Given the description of an element on the screen output the (x, y) to click on. 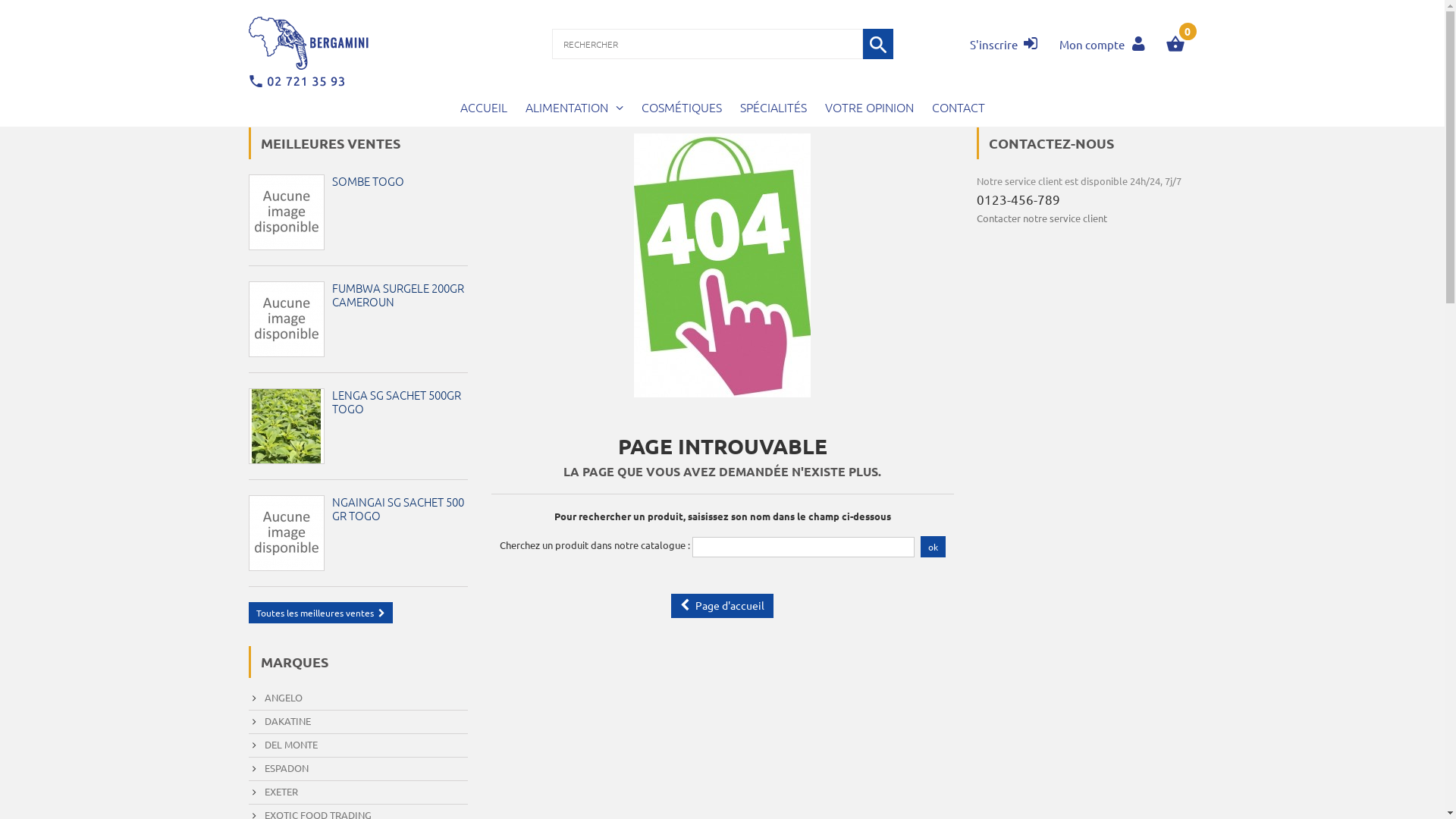
ESPADON Element type: text (279, 767)
Bergamini Element type: hover (308, 51)
NGAINGAI SG SACHET 500 GR TOGO Element type: text (398, 508)
0 Element type: text (1181, 36)
LENGA SG SACHET 500GR TOGO Element type: text (396, 401)
FUMBWA SURGELE 200GR CAMEROUN Element type: text (398, 294)
ACCUEIL Element type: text (482, 109)
MARQUES Element type: text (294, 661)
VOTRE OPINION Element type: text (868, 109)
Page d'accueil Element type: text (722, 605)
SOMBE TOGO Element type: text (368, 180)
EXETER Element type: text (274, 790)
MEILLEURES VENTES Element type: text (330, 142)
ok Element type: text (932, 546)
ALIMENTATION Element type: text (573, 109)
CONTACT Element type: text (957, 109)
DEL MONTE Element type: text (283, 743)
DAKATINE Element type: text (280, 720)
Toutes les meilleures ventes Element type: text (320, 612)
ANGELO Element type: text (276, 696)
S'inscrire Element type: text (1002, 43)
Contacter notre service client Element type: text (1041, 217)
